Given the description of an element on the screen output the (x, y) to click on. 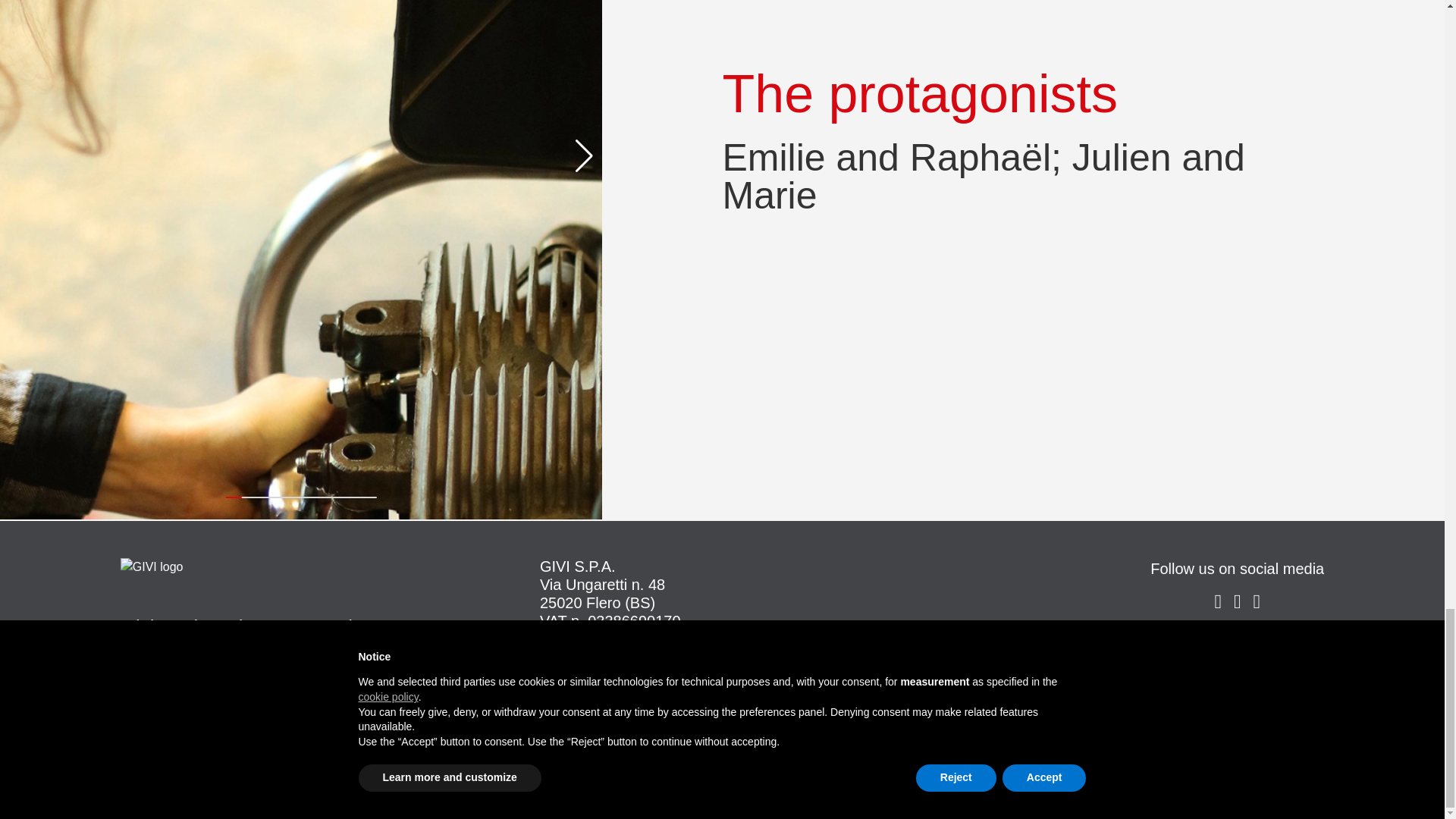
Cookie policy (1236, 645)
Privacy policy (1237, 675)
